Given the description of an element on the screen output the (x, y) to click on. 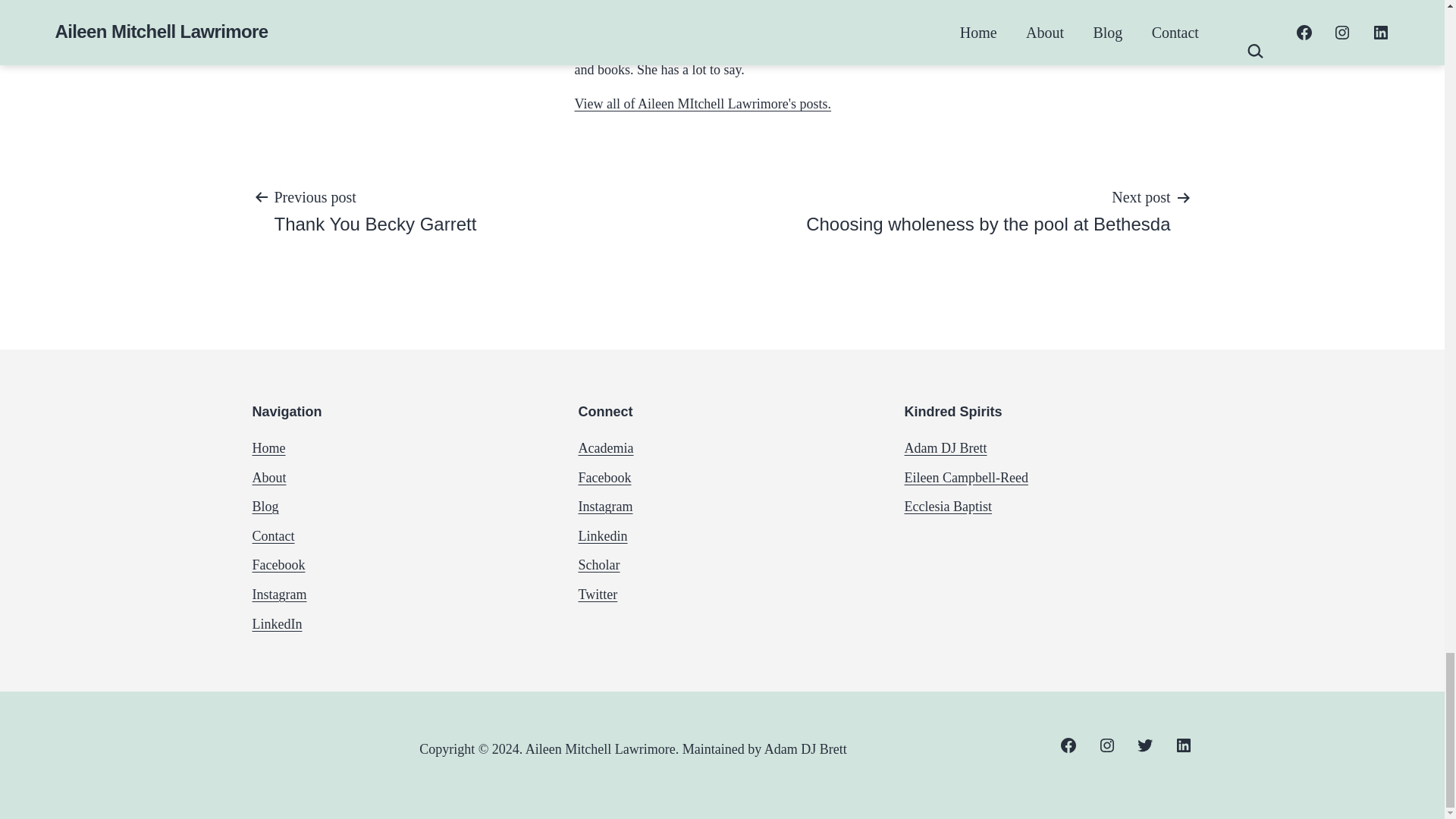
Facebook (277, 564)
Contact (374, 209)
About (272, 535)
LinkedIn (988, 209)
View all of Aileen MItchell Lawrimore's posts. (268, 477)
Blog (276, 623)
Home (703, 103)
Instagram (264, 506)
